Given the description of an element on the screen output the (x, y) to click on. 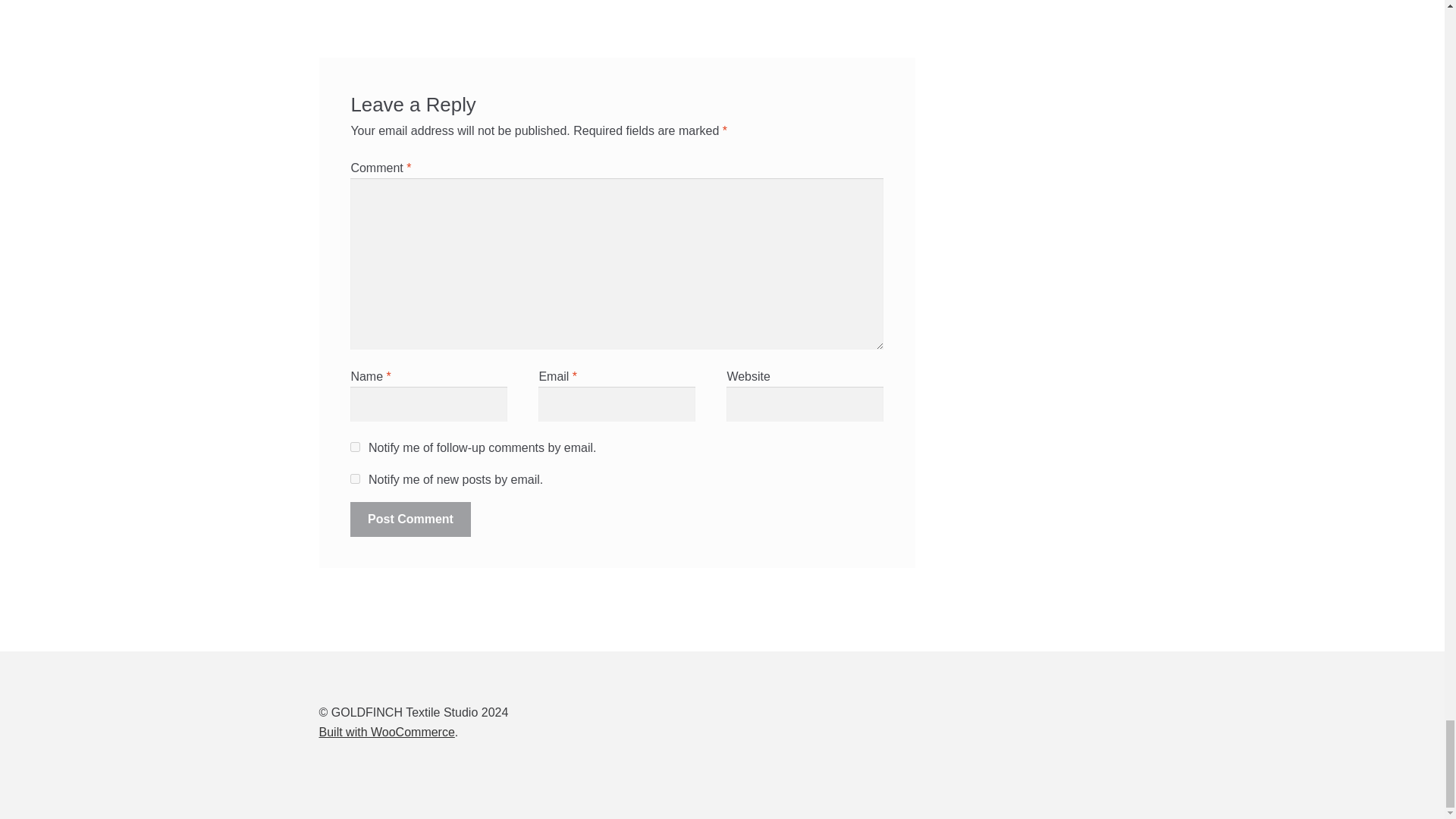
WooCommerce - The Best eCommerce Platform for WordPress (386, 731)
Post Comment (410, 519)
subscribe (354, 447)
subscribe (354, 479)
